Given the description of an element on the screen output the (x, y) to click on. 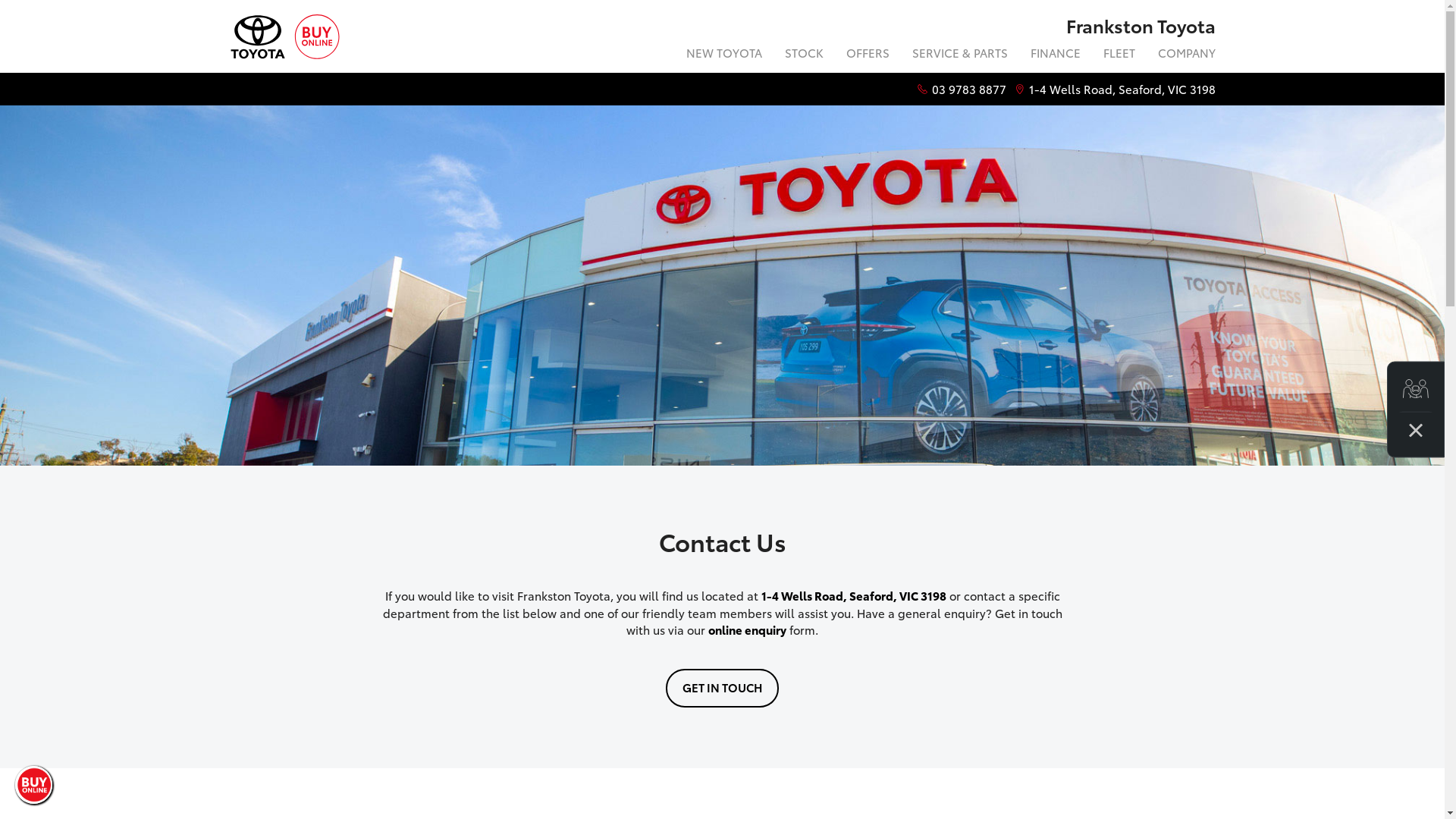
1-4 Wells Road, Seaford, VIC 3198 Element type: text (1121, 88)
COMPANY Element type: text (1180, 54)
FLEET Element type: text (1119, 54)
STOCK Element type: text (803, 54)
03 9783 8877 Element type: text (968, 88)
NEW TOYOTA Element type: text (723, 54)
SERVICE & PARTS Element type: text (959, 54)
GET IN TOUCH Element type: text (721, 687)
OFFERS Element type: text (867, 54)
online enquiry Element type: text (747, 629)
FINANCE Element type: text (1055, 54)
1-4 Wells Road, Seaford, VIC 3198 Element type: text (853, 594)
